Given the description of an element on the screen output the (x, y) to click on. 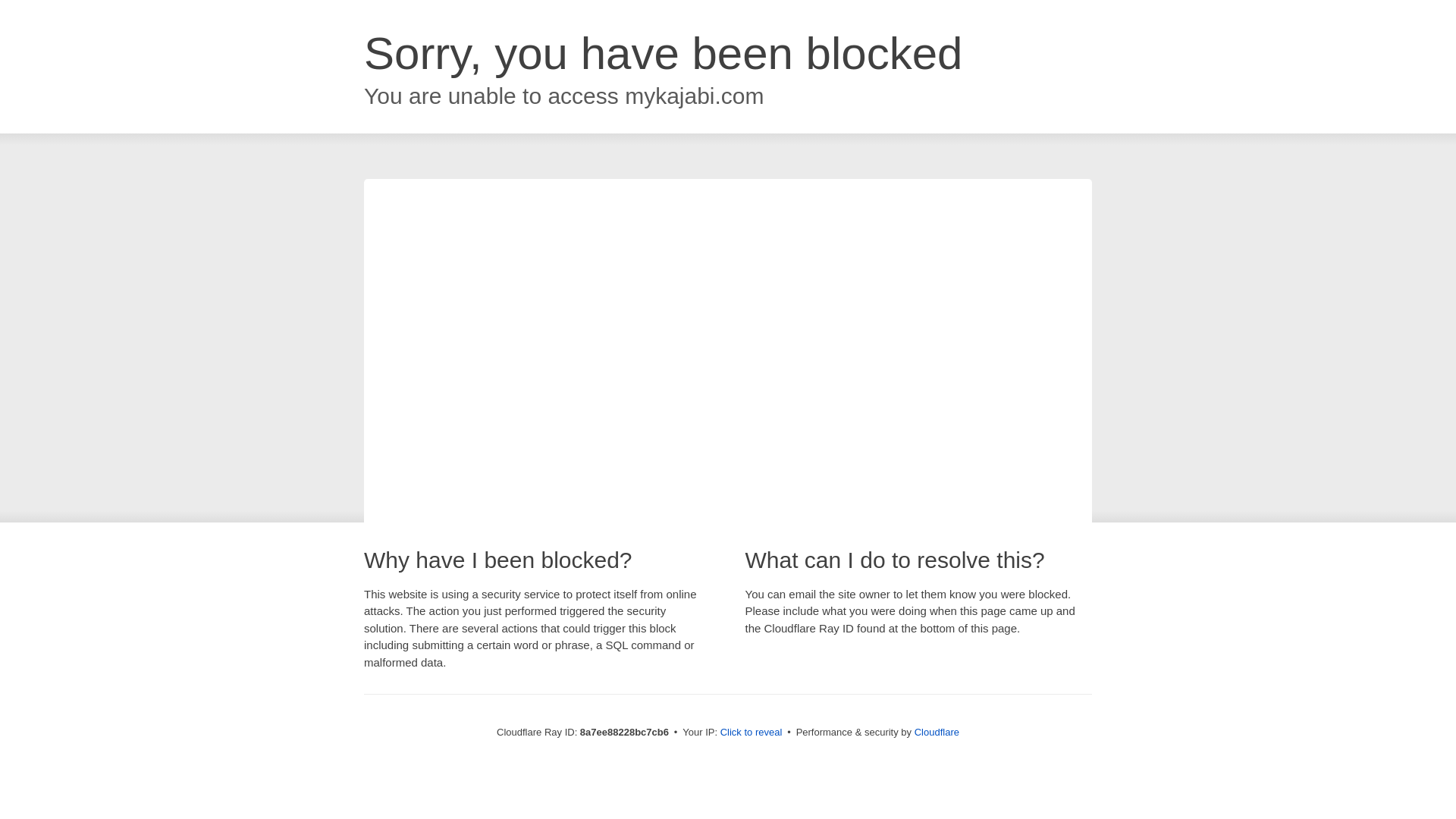
Cloudflare (936, 731)
Click to reveal (751, 732)
